Given the description of an element on the screen output the (x, y) to click on. 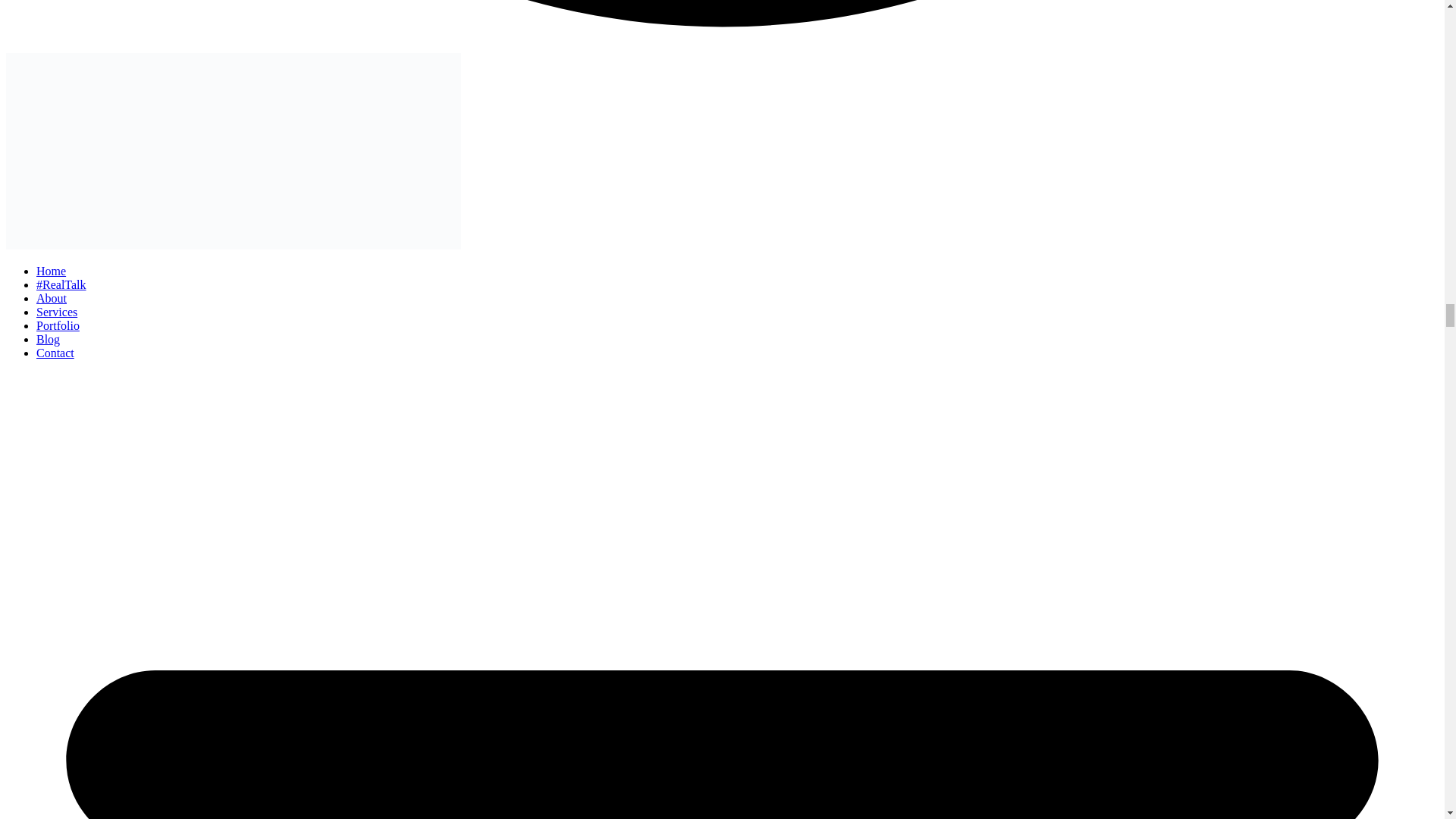
Home (50, 270)
Services (56, 311)
Portfolio (58, 325)
About (51, 297)
Blog (47, 338)
Contact (55, 352)
